Given the description of an element on the screen output the (x, y) to click on. 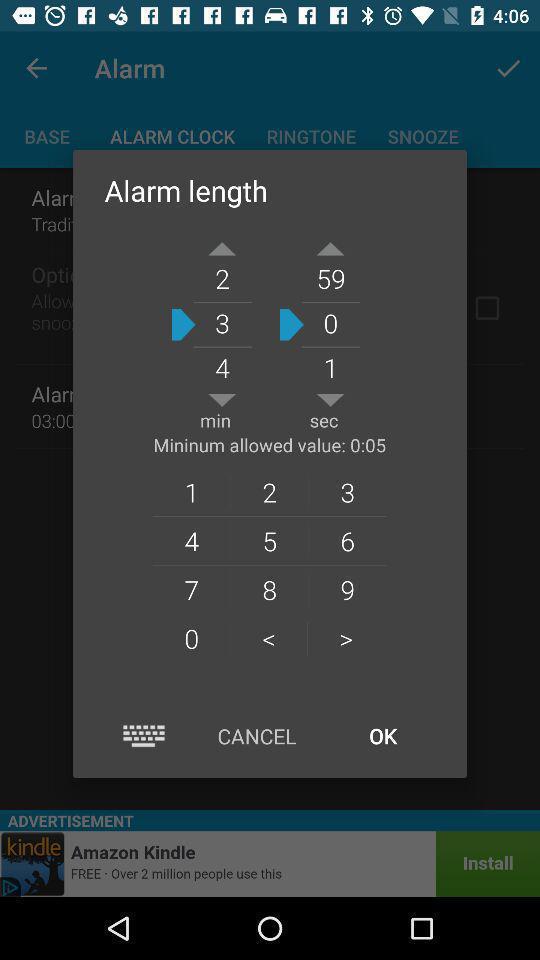
turn off the 4 item (191, 540)
